Given the description of an element on the screen output the (x, y) to click on. 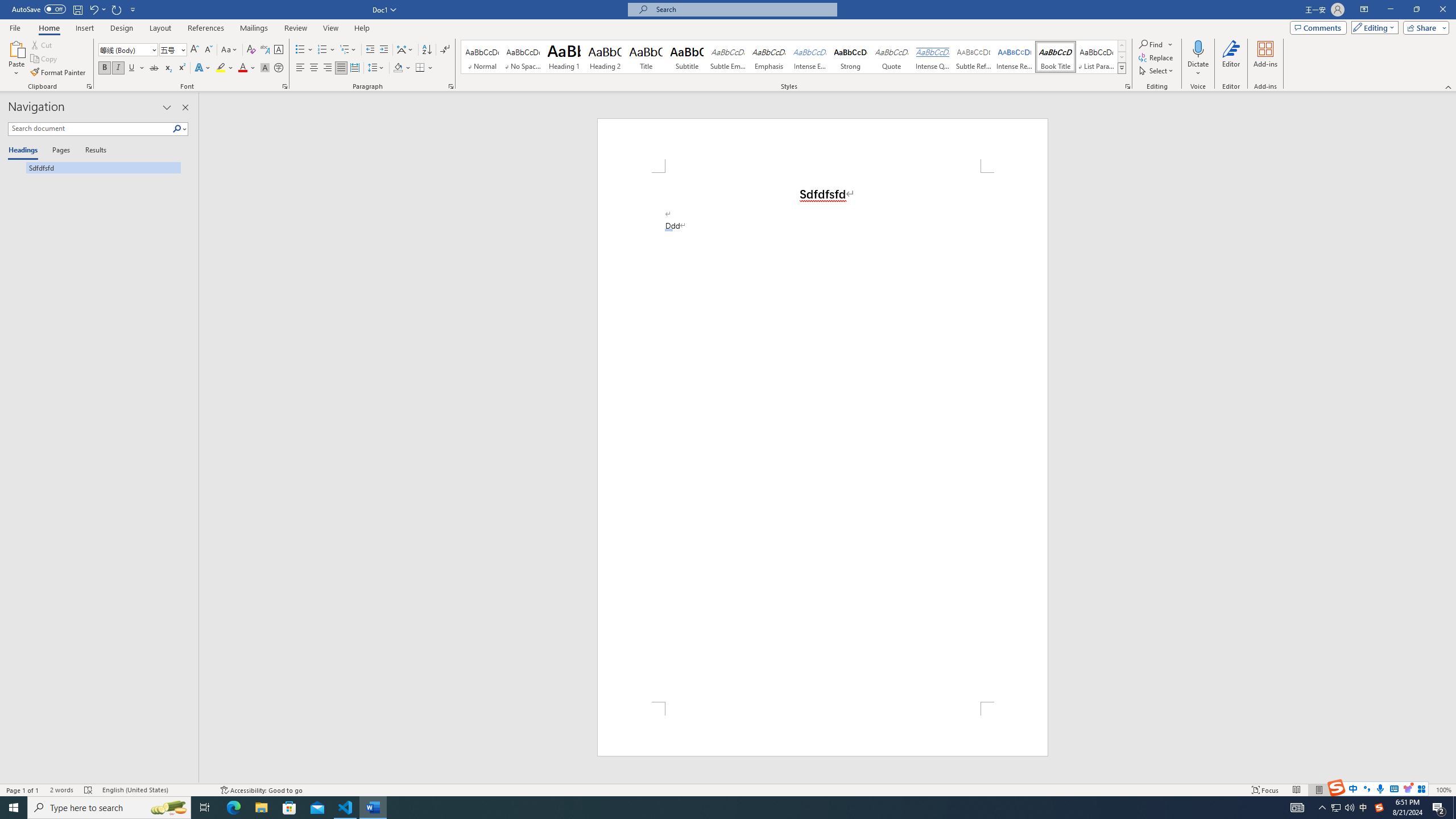
Language English (United States) (155, 790)
Close pane (185, 107)
Replace... (1156, 56)
Numbering (322, 49)
Mailings (253, 28)
Quick Access Toolbar (74, 9)
Font... (285, 85)
Find (1151, 44)
AutomationID: QuickStylesGallery (794, 56)
Layout (160, 28)
Subscript (167, 67)
Office Clipboard... (88, 85)
Select (1157, 69)
Row Down (1121, 56)
Subtle Emphasis (727, 56)
